Given the description of an element on the screen output the (x, y) to click on. 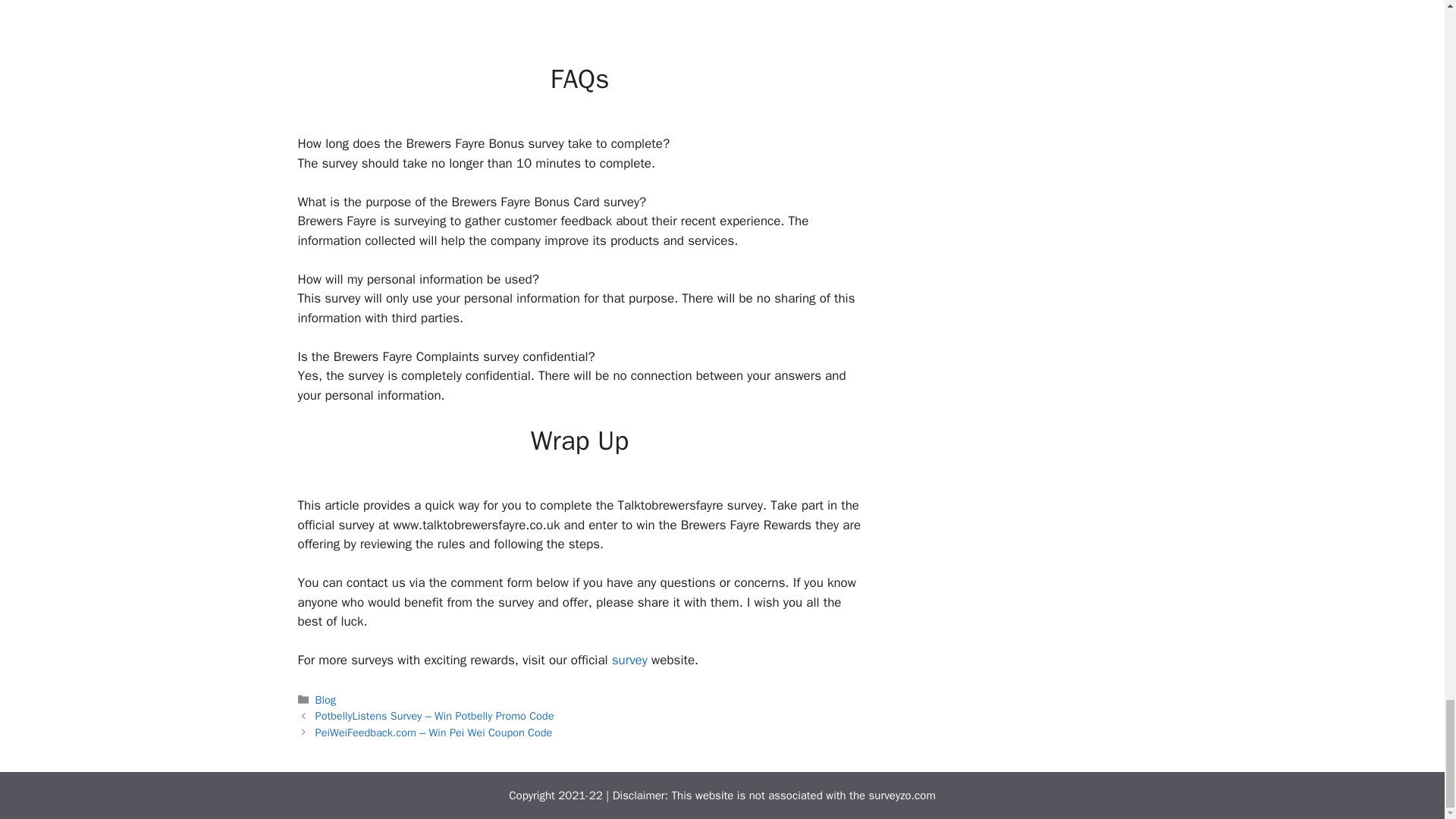
Next (434, 732)
Previous (434, 715)
Blog (325, 699)
survey  (630, 659)
